Given the description of an element on the screen output the (x, y) to click on. 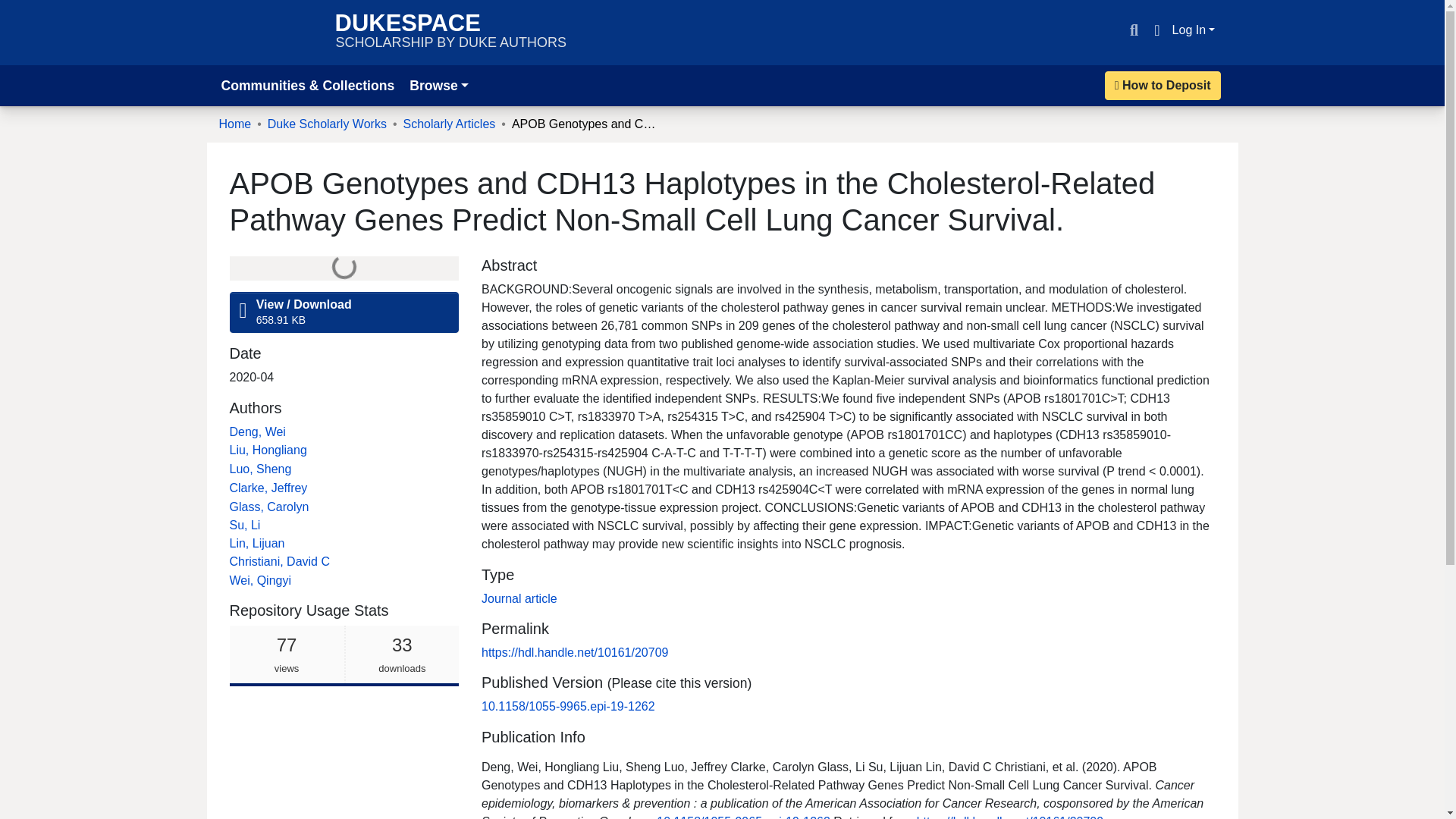
Language switch (1156, 30)
Su, Li (244, 524)
Duke University Libraries (269, 32)
Lin, Lijuan (450, 32)
Skip to Main Content (255, 543)
How to Deposit (18, 9)
Christiani, David C (1163, 85)
Clarke, Jeffrey (278, 561)
Journal article (269, 487)
